Given the description of an element on the screen output the (x, y) to click on. 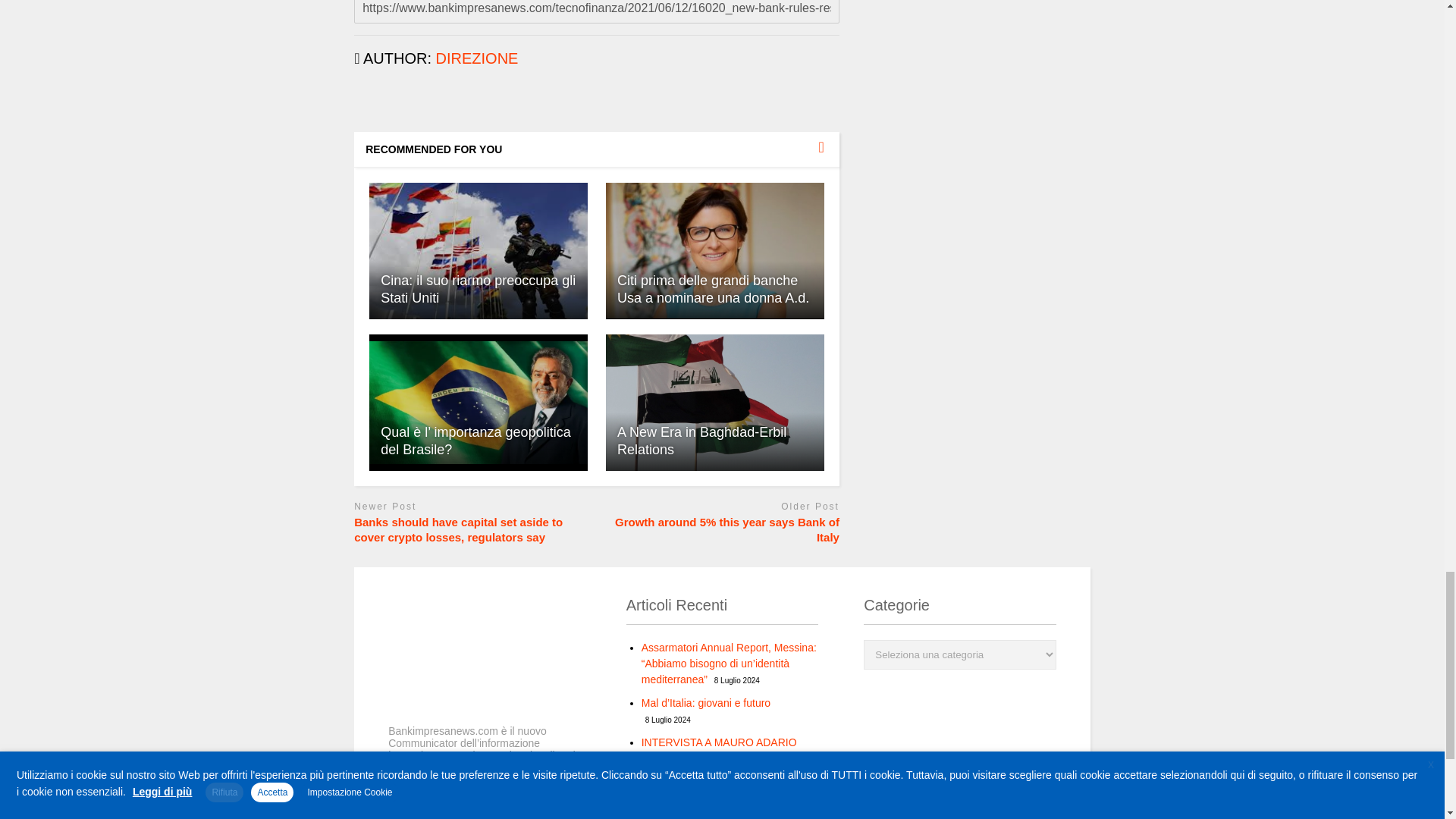
Click to read (478, 402)
Cina: il suo riarmo preoccupa gli Stati Uniti (478, 250)
Click to read (714, 250)
Click to read (478, 250)
author profile (476, 57)
Citi prima delle grandi banche Usa a nominare una donna A.d. (714, 250)
